Given the description of an element on the screen output the (x, y) to click on. 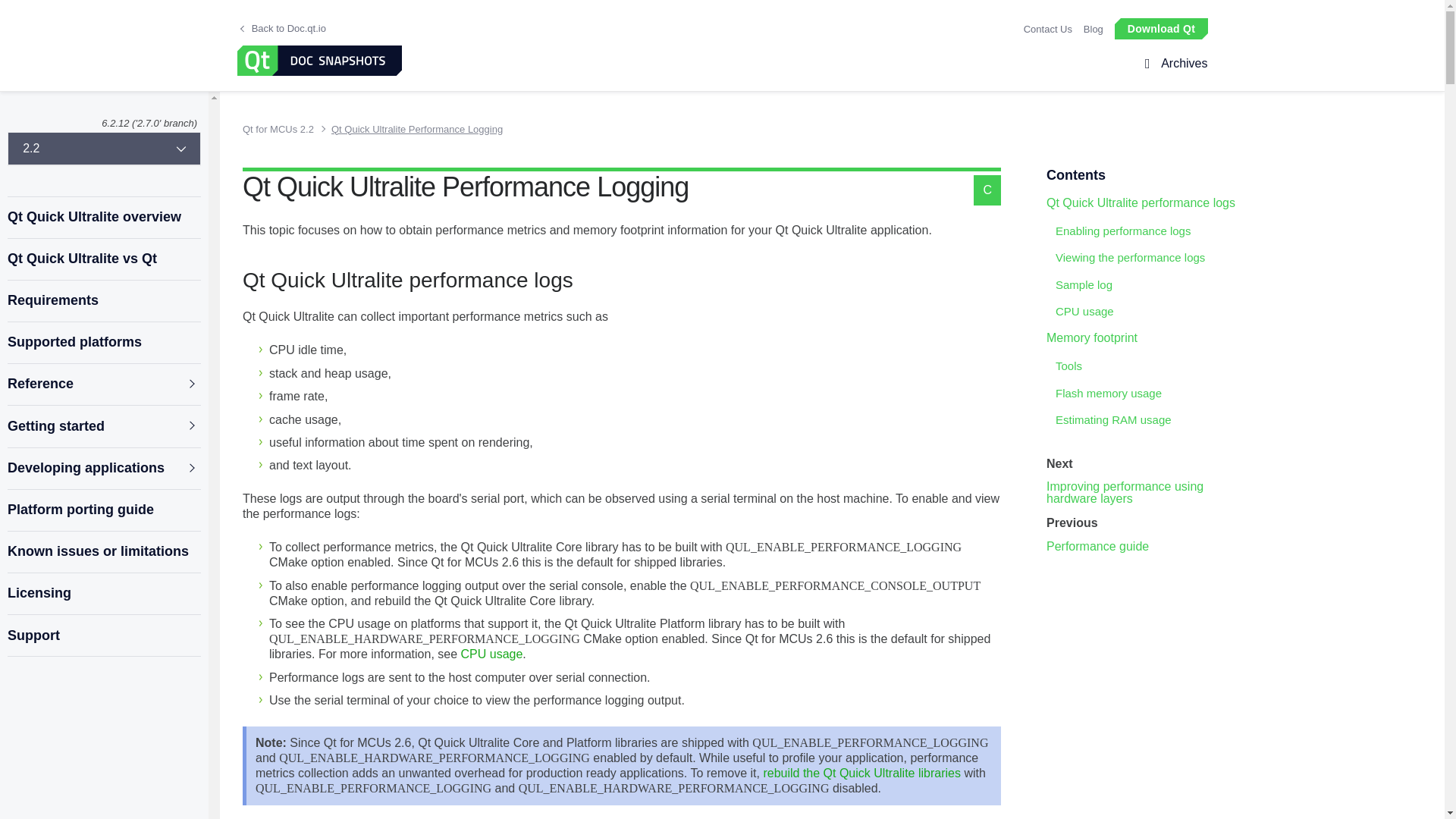
Supported platforms (103, 342)
Reference (103, 384)
Qt Quick Ultralite overview (103, 217)
Qt Quick Ultralite vs Qt (103, 258)
Known issues or limitations (103, 551)
Platform porting guide (103, 510)
Licensing (103, 593)
Support (103, 635)
Getting started (103, 425)
Archives (1181, 63)
